Given the description of an element on the screen output the (x, y) to click on. 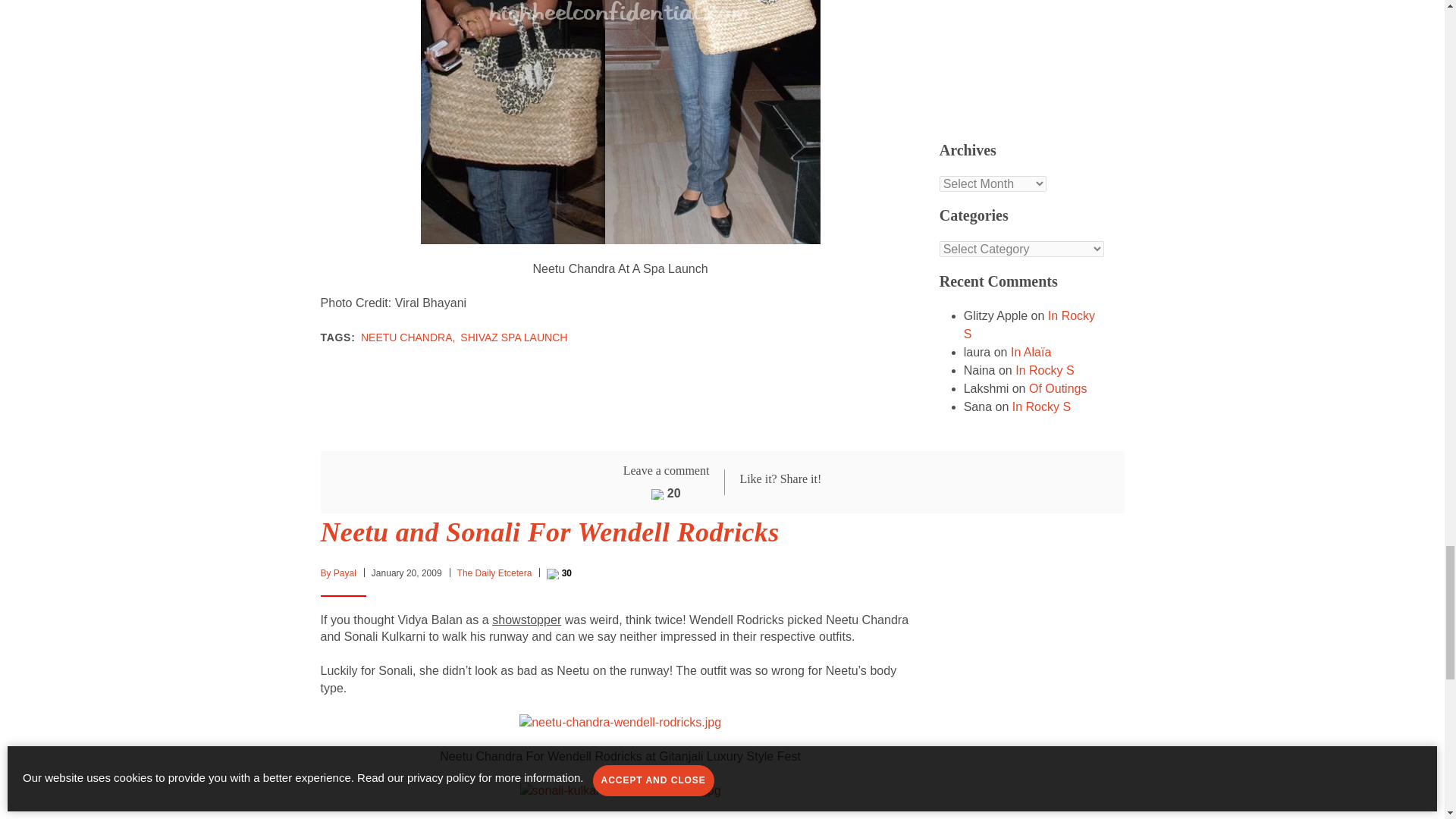
neetu-chandra-wendell-rodricks.jpg (619, 721)
sonali-kulkarni-wendell-rodricks.jpg (619, 789)
neetu-chandra-shivaz-spa-launch.jpg (620, 11)
